Given the description of an element on the screen output the (x, y) to click on. 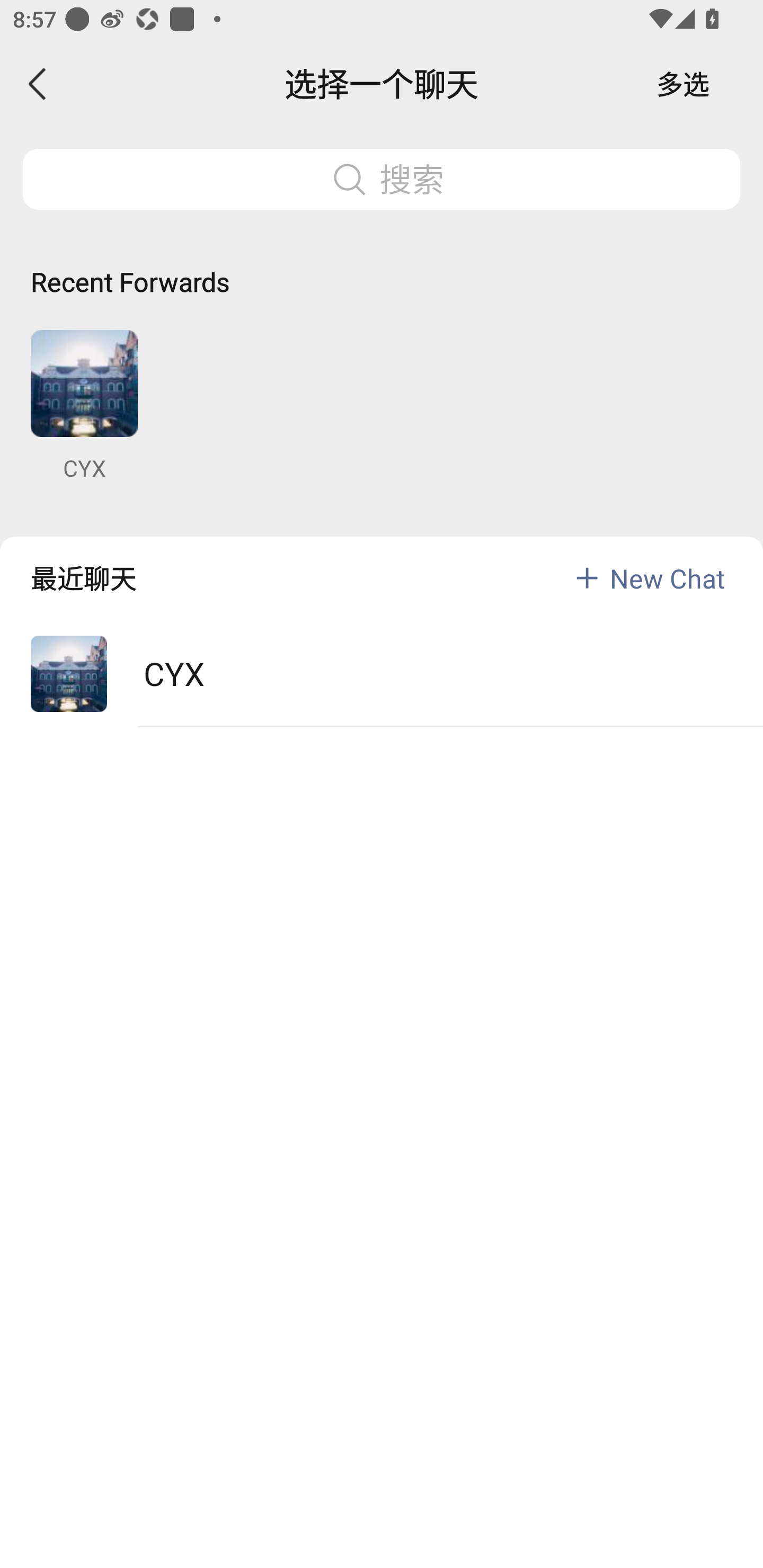
返回 (38, 83)
多选 (683, 83)
CYX (84, 405)
New Chat (667, 577)
CYX (381, 673)
